Given the description of an element on the screen output the (x, y) to click on. 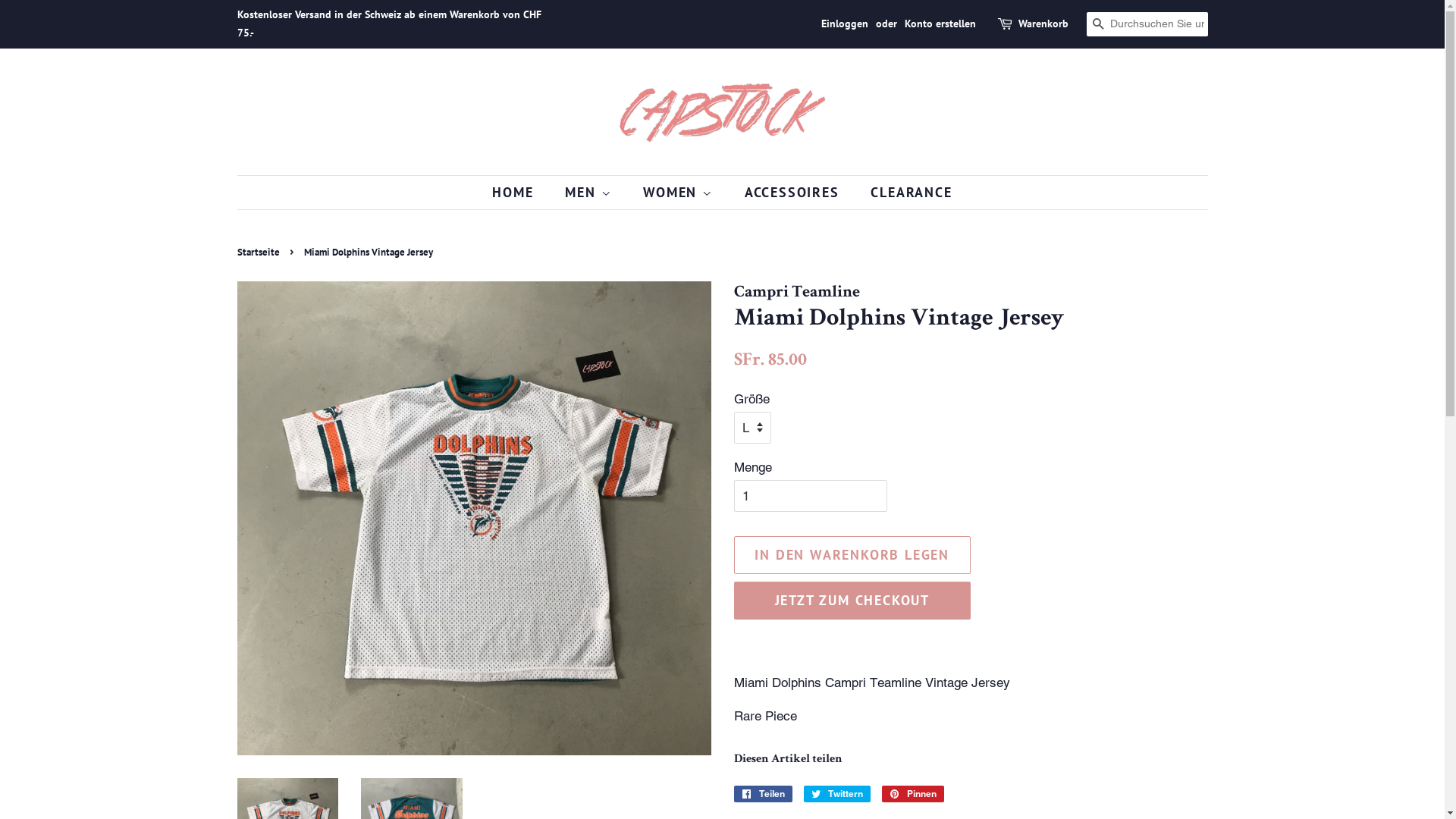
Teilen
Auf Facebook teilen Element type: text (763, 793)
Twittern
Auf Twitter twittern Element type: text (836, 793)
JETZT ZUM CHECKOUT Element type: text (852, 600)
Startseite Element type: text (259, 251)
HOME Element type: text (520, 192)
Einloggen Element type: text (843, 23)
ACCESSOIRES Element type: text (793, 192)
Pinnen
Auf Pinterest pinnen Element type: text (912, 793)
SUCHEN Element type: text (1097, 24)
MEN Element type: text (589, 192)
Konto erstellen Element type: text (939, 23)
CLEARANCE Element type: text (905, 192)
IN DEN WARENKORB LEGEN Element type: text (852, 555)
Warenkorb Element type: text (1042, 24)
WOMEN Element type: text (679, 192)
